Given the description of an element on the screen output the (x, y) to click on. 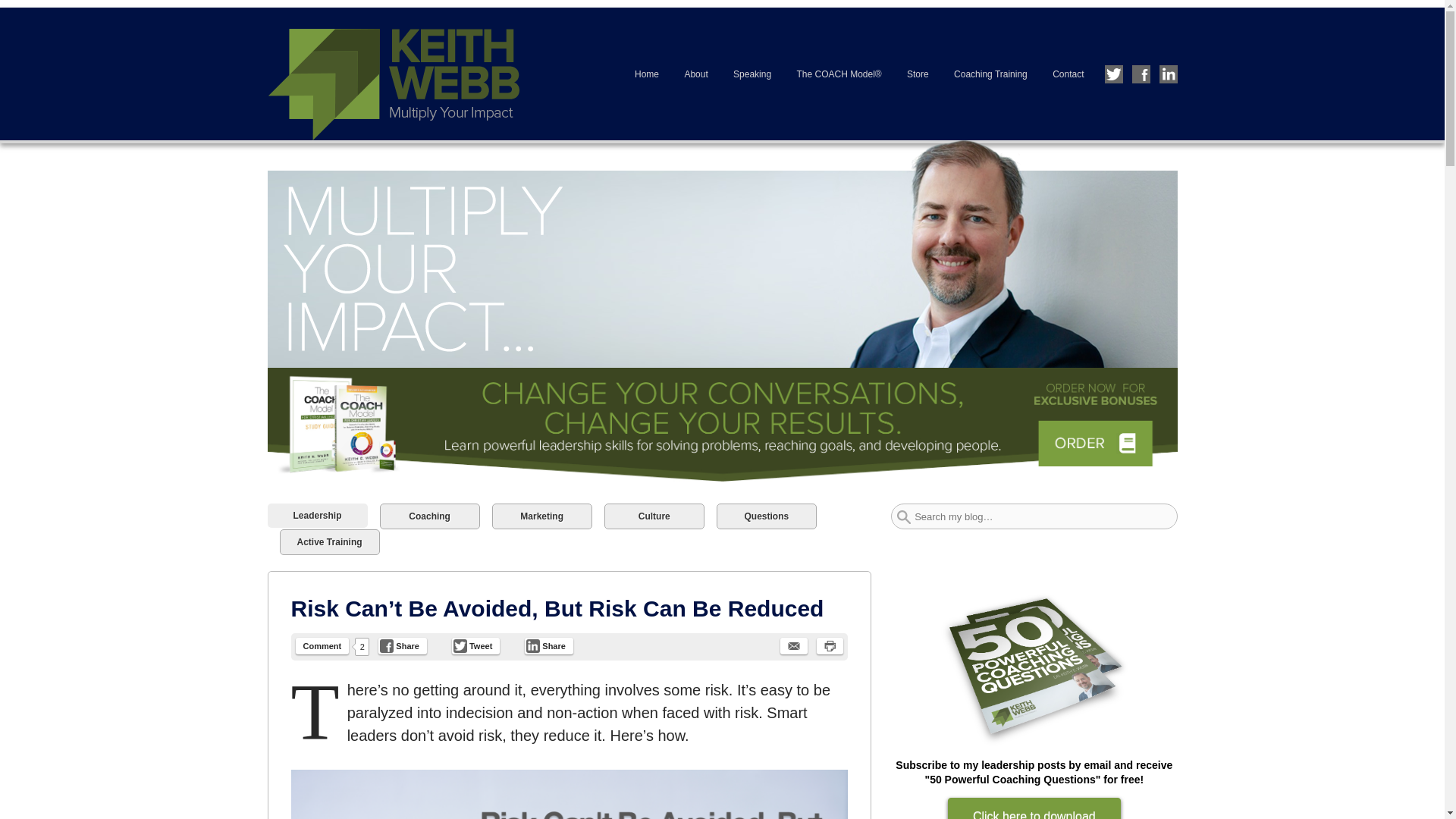
Connect with me on LinkedIn (1167, 74)
Home (646, 73)
Follow me on Twitter (1112, 74)
Culture (654, 516)
Share on LinkedIn (548, 646)
Store (917, 73)
Comment (322, 646)
Share (402, 646)
Active Training (328, 542)
Leadership (316, 515)
Marketing (542, 516)
Keith Webb (408, 73)
Skip to content (299, 17)
Tweet this Post (475, 646)
Contact (1067, 73)
